Given the description of an element on the screen output the (x, y) to click on. 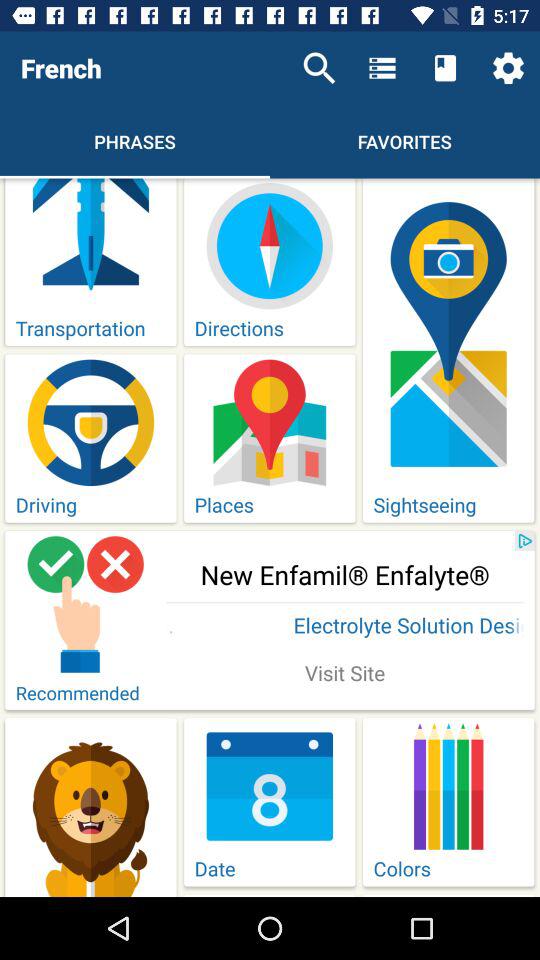
open the item to the right of the french icon (319, 67)
